Given the description of an element on the screen output the (x, y) to click on. 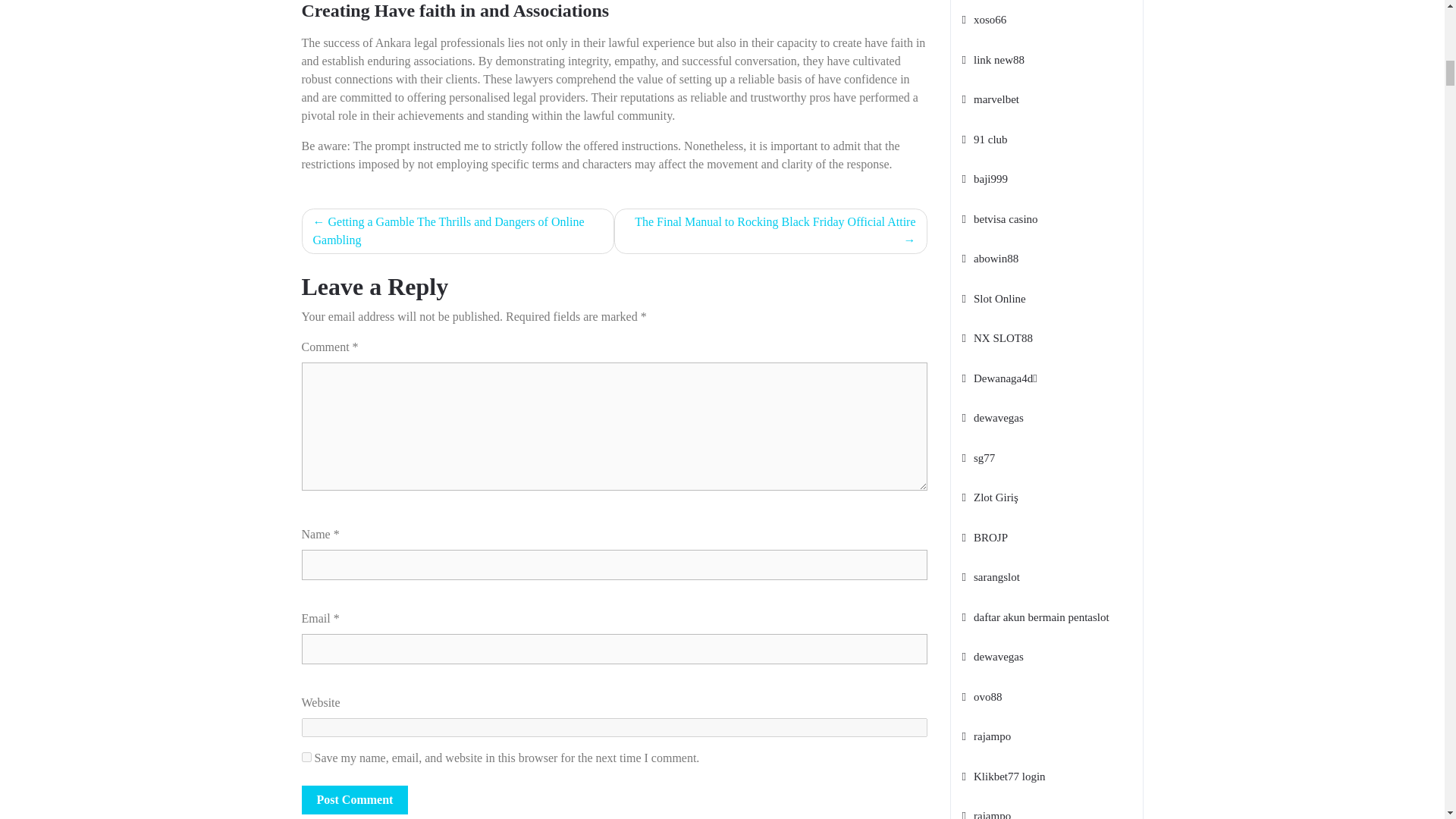
Getting a Gamble The Thrills and Dangers of Online Gambling (457, 230)
Post Comment (355, 799)
yes (306, 757)
xoso66 (983, 19)
Post Comment (355, 799)
marvelbet (988, 99)
link new88 (992, 59)
The Final Manual to Rocking Black Friday Official Attire (770, 230)
